Given the description of an element on the screen output the (x, y) to click on. 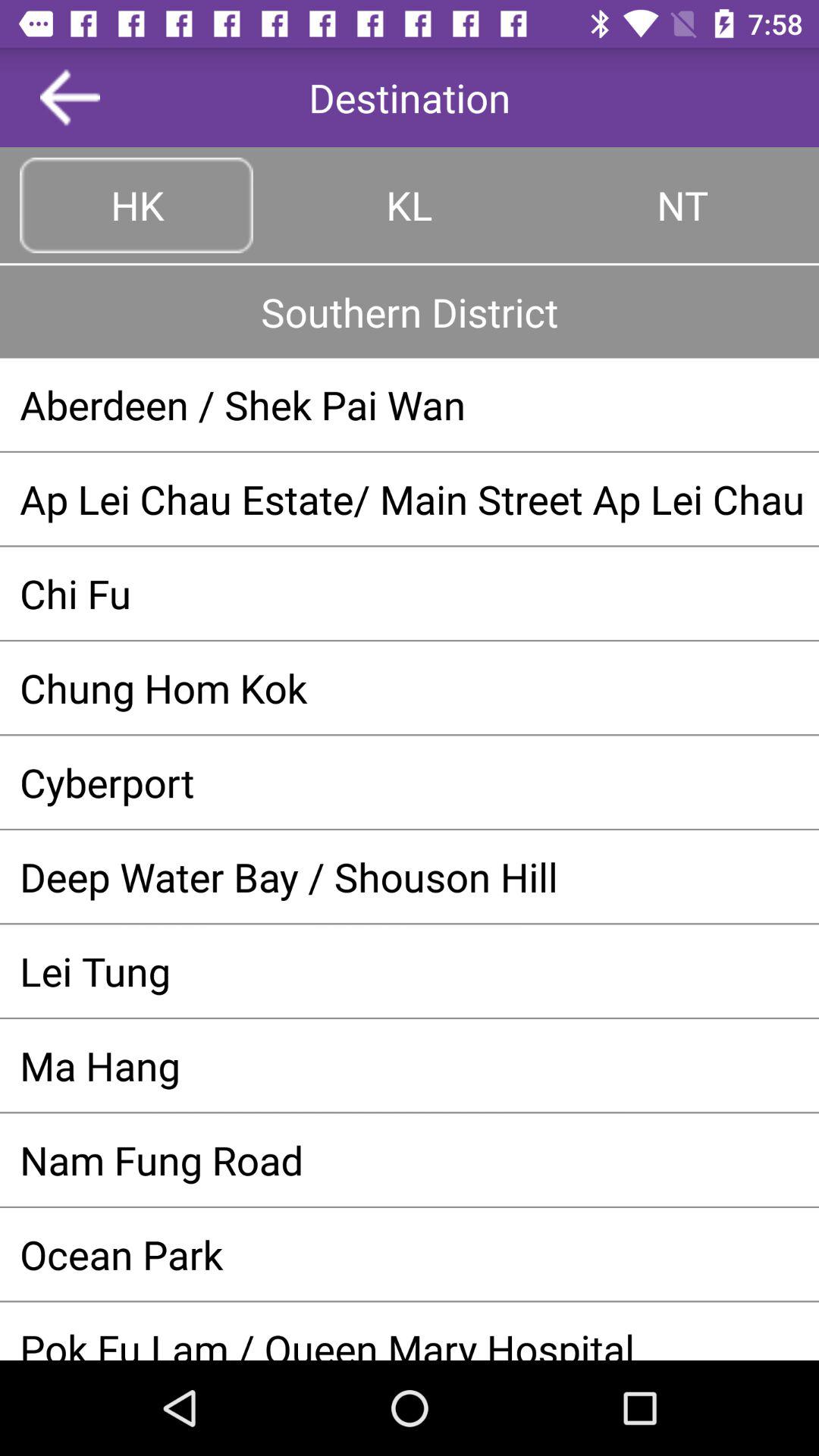
click the lei tung item (409, 970)
